Given the description of an element on the screen output the (x, y) to click on. 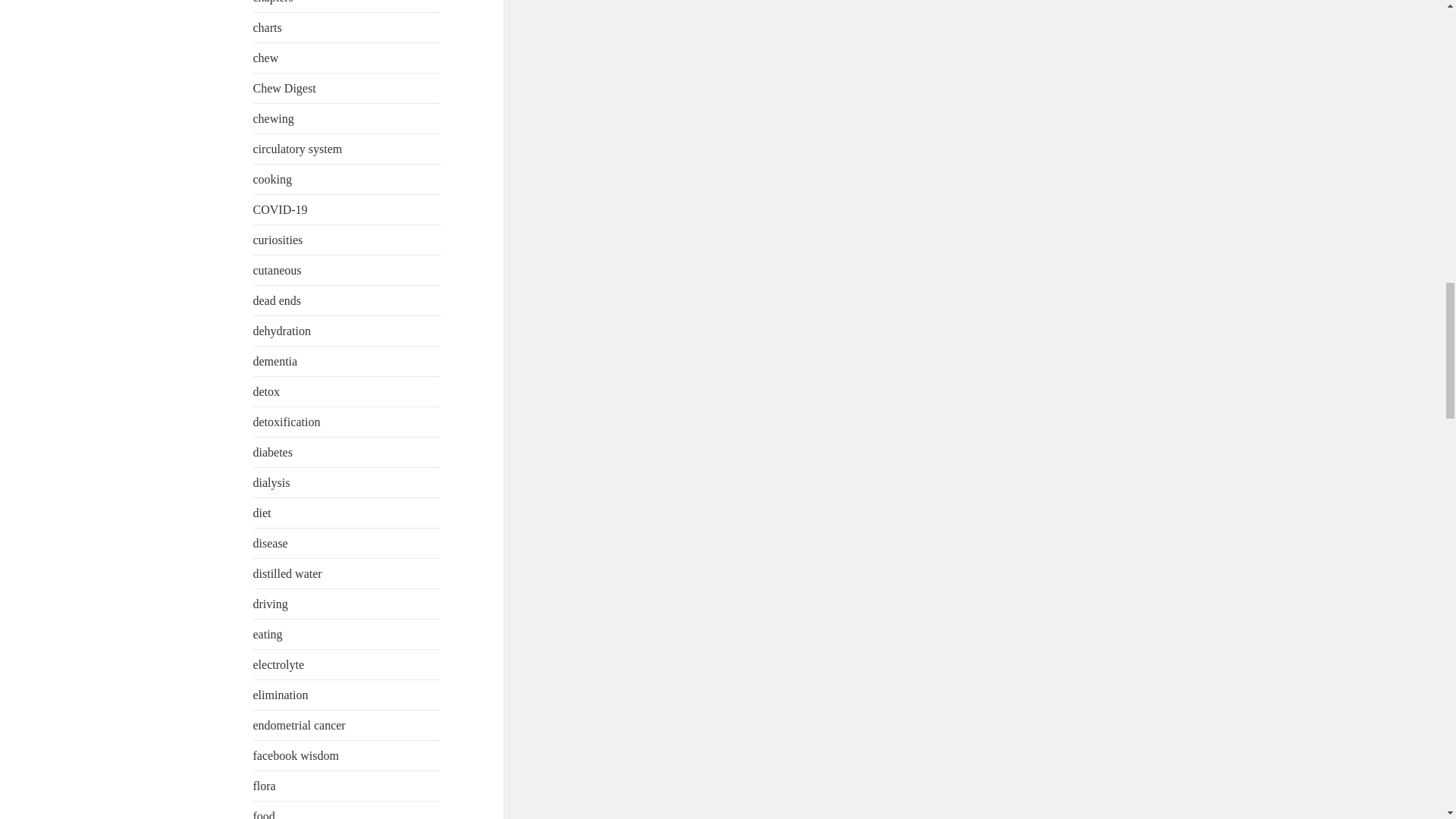
chew (266, 57)
chewing (273, 118)
charts (267, 27)
chapters (273, 2)
Chew Digest (284, 88)
